Given the description of an element on the screen output the (x, y) to click on. 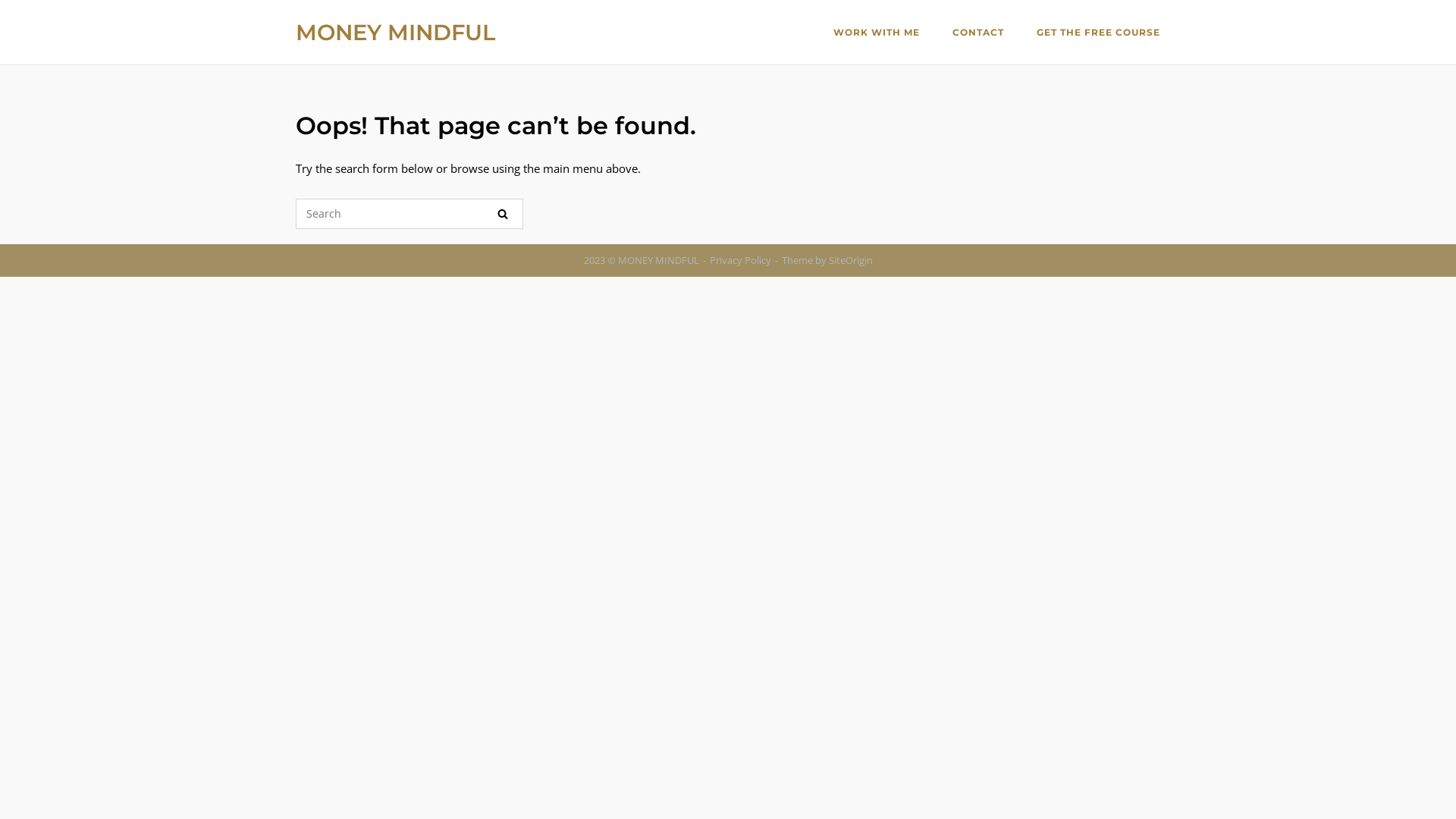
WORK WITH ME Element type: text (876, 33)
GET THE FREE COURSE Element type: text (1098, 33)
MONEY MINDFUL Element type: text (395, 31)
CONTACT Element type: text (978, 33)
Privacy Policy Element type: text (740, 259)
SiteOrigin Element type: text (850, 259)
